Given the description of an element on the screen output the (x, y) to click on. 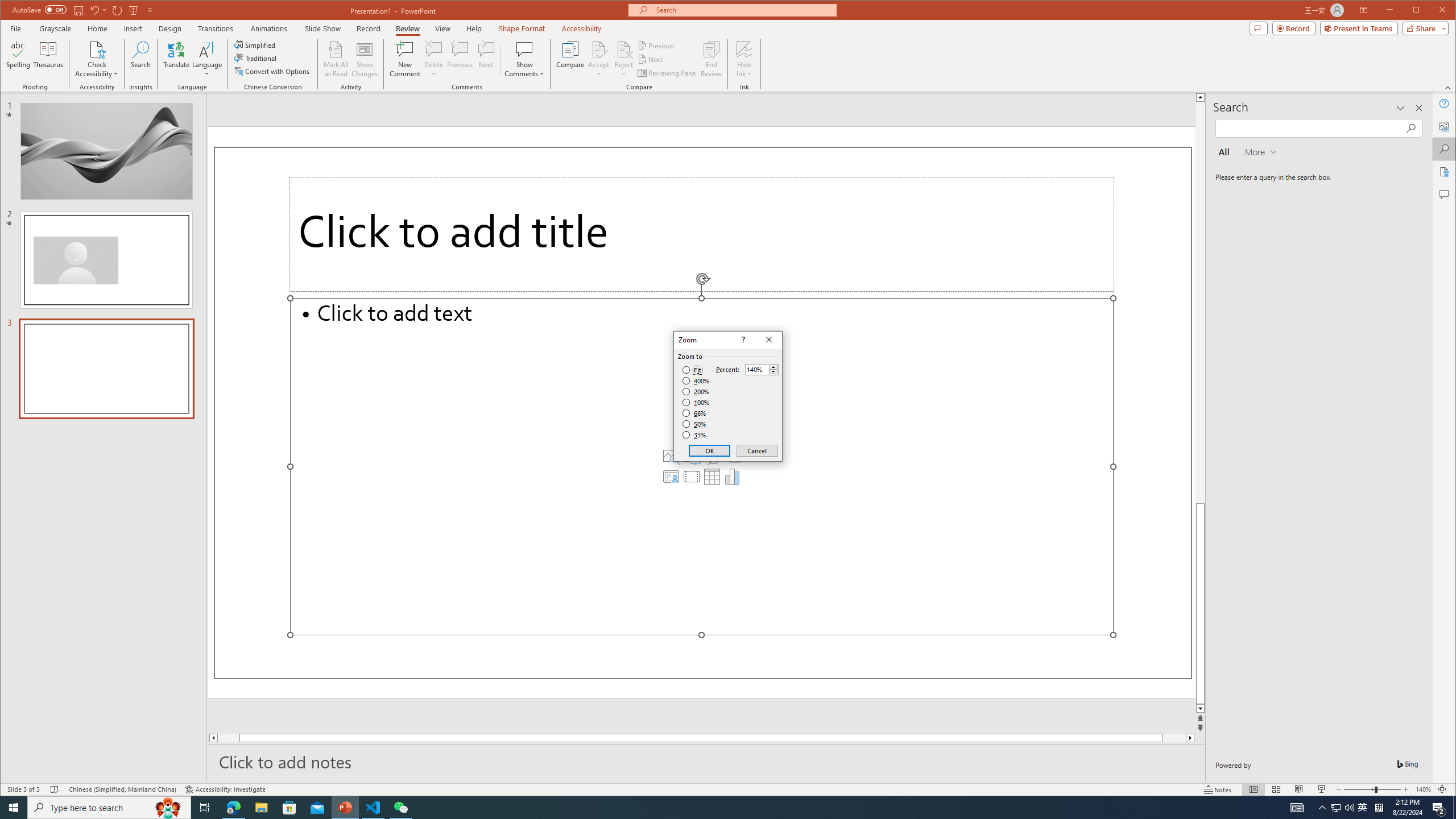
Simplified (255, 44)
